Given the description of an element on the screen output the (x, y) to click on. 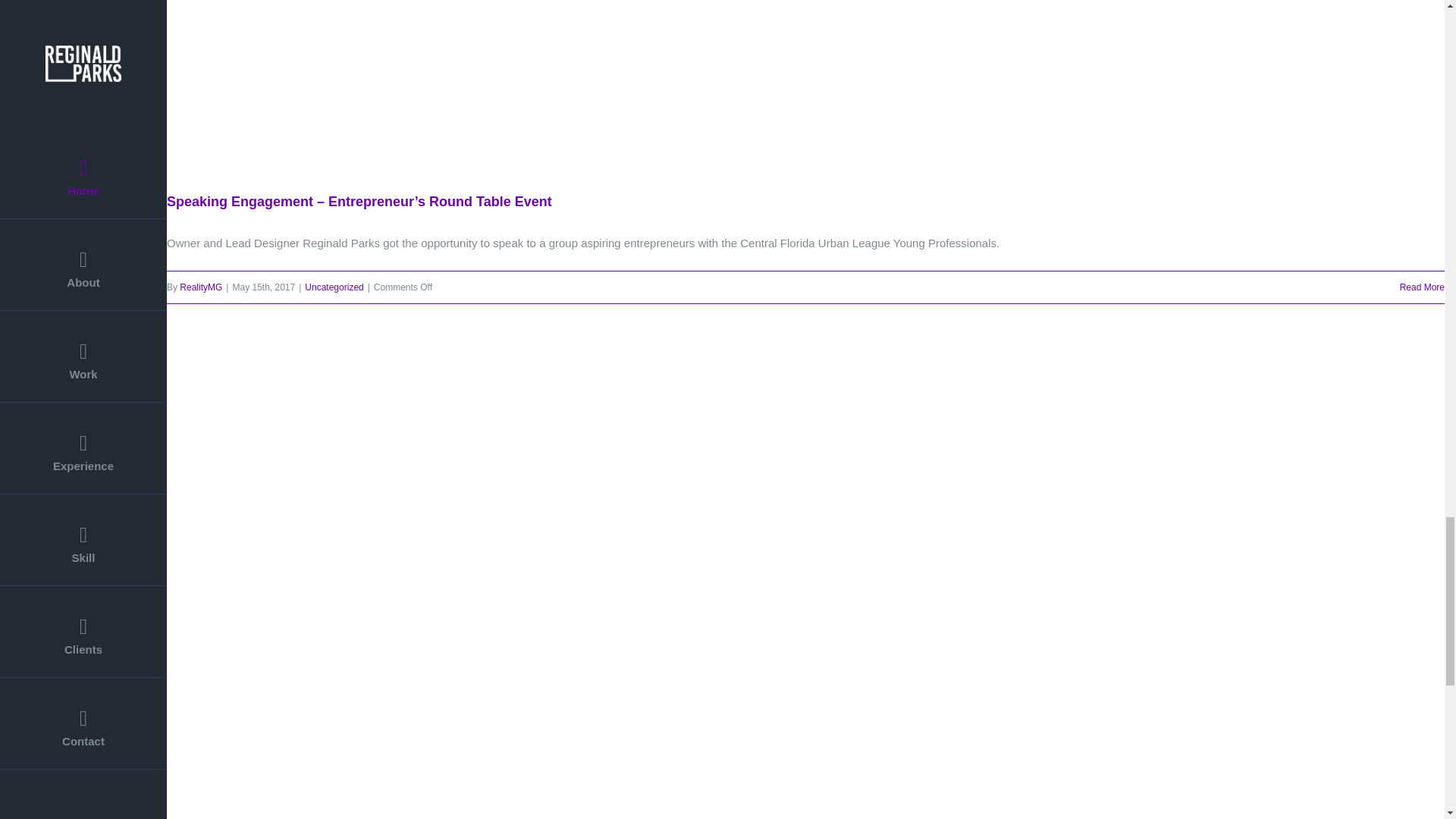
Posts by RealityMG (200, 286)
RealityMG (200, 286)
Uncategorized (333, 286)
